Given the description of an element on the screen output the (x, y) to click on. 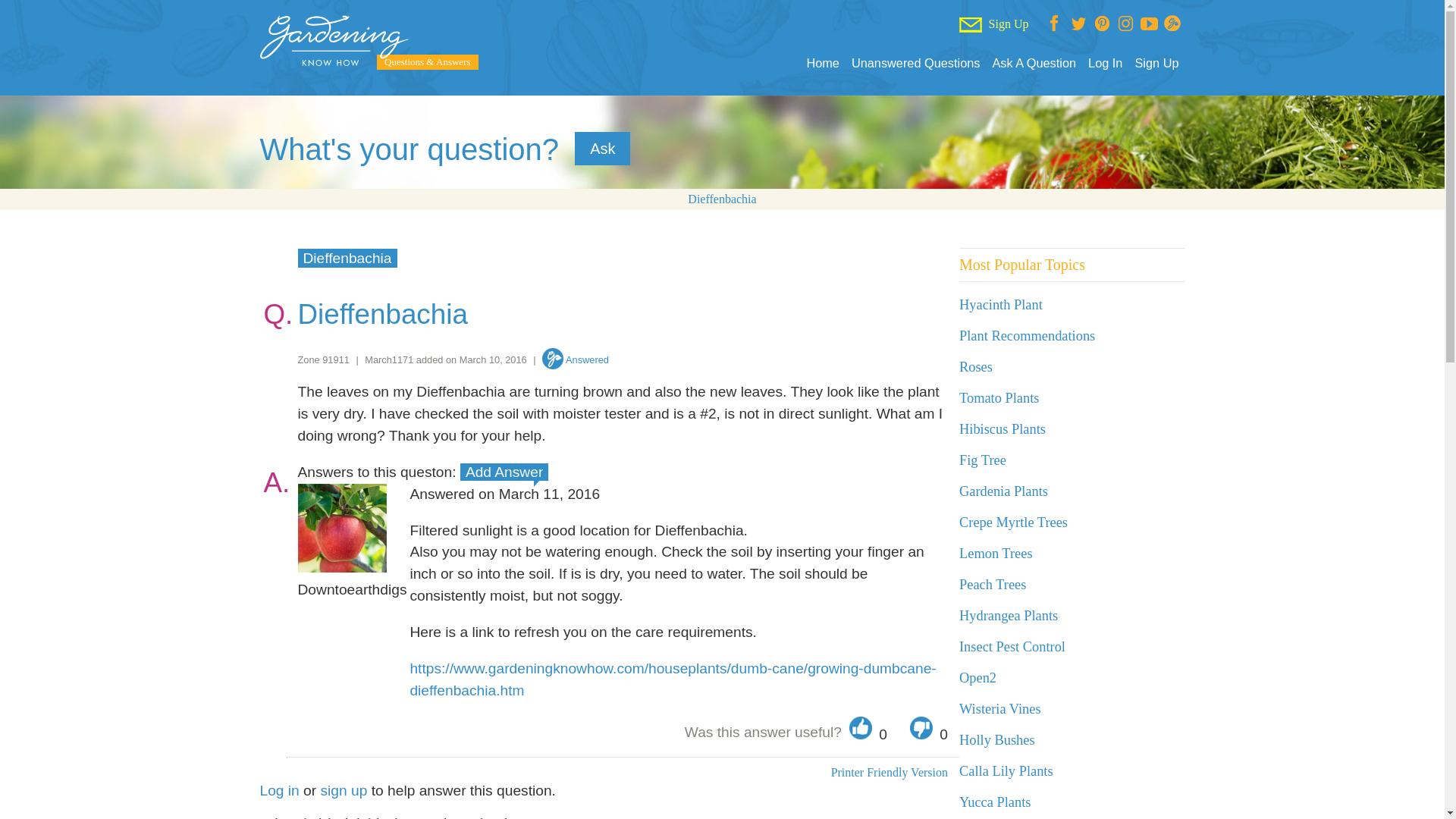
Plant Recommendations (1026, 335)
Lemon Trees (995, 553)
Fig Tree (982, 459)
Add Answer (504, 471)
Printer Friendly Version (889, 771)
Tomato Plants (999, 397)
Fig Tree (982, 459)
Tomato Plants (999, 397)
Sign Up (1156, 62)
Crepe Myrtle Trees (1013, 522)
Hyacinth Plant (1000, 304)
Gardenia Plants (1003, 491)
Gardenia Plants (1003, 491)
Printer Friendly Version (889, 771)
Dieffenbachia (721, 198)
